Given the description of an element on the screen output the (x, y) to click on. 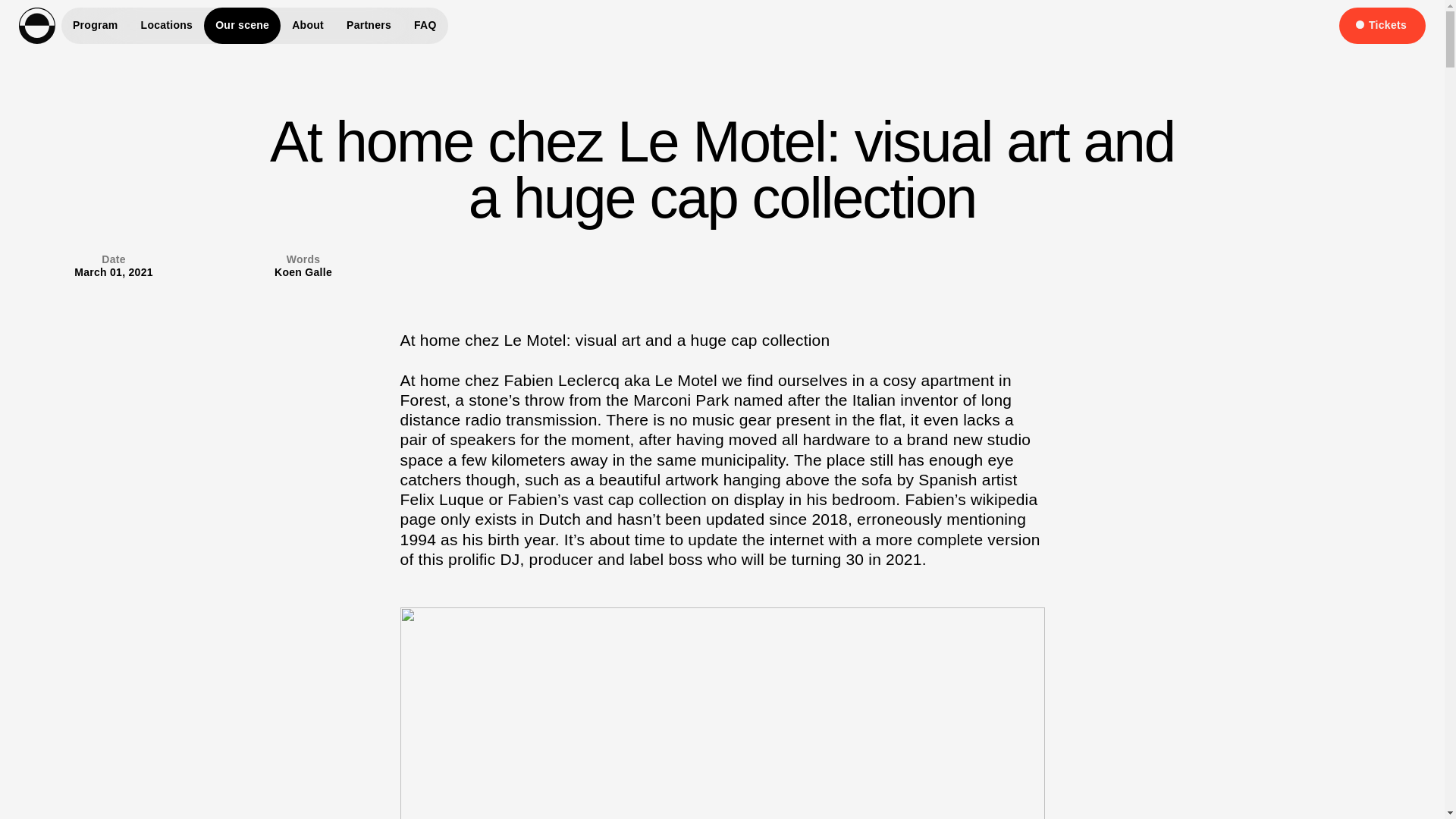
FAQ (425, 25)
Program (95, 25)
Tickets (1382, 25)
Locations (167, 25)
About (307, 25)
Partners (368, 25)
Our scene (242, 25)
